Given the description of an element on the screen output the (x, y) to click on. 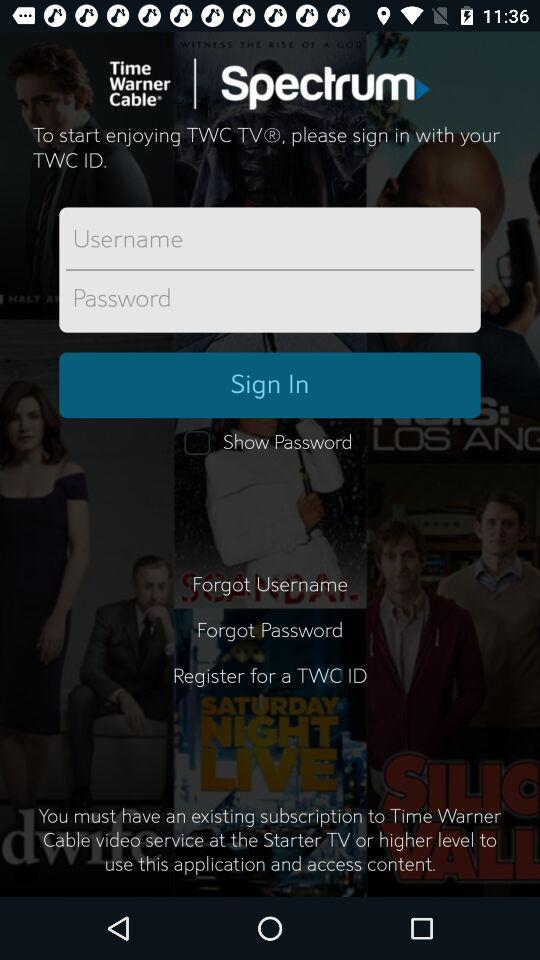
click the item below forgot username icon (270, 630)
